Given the description of an element on the screen output the (x, y) to click on. 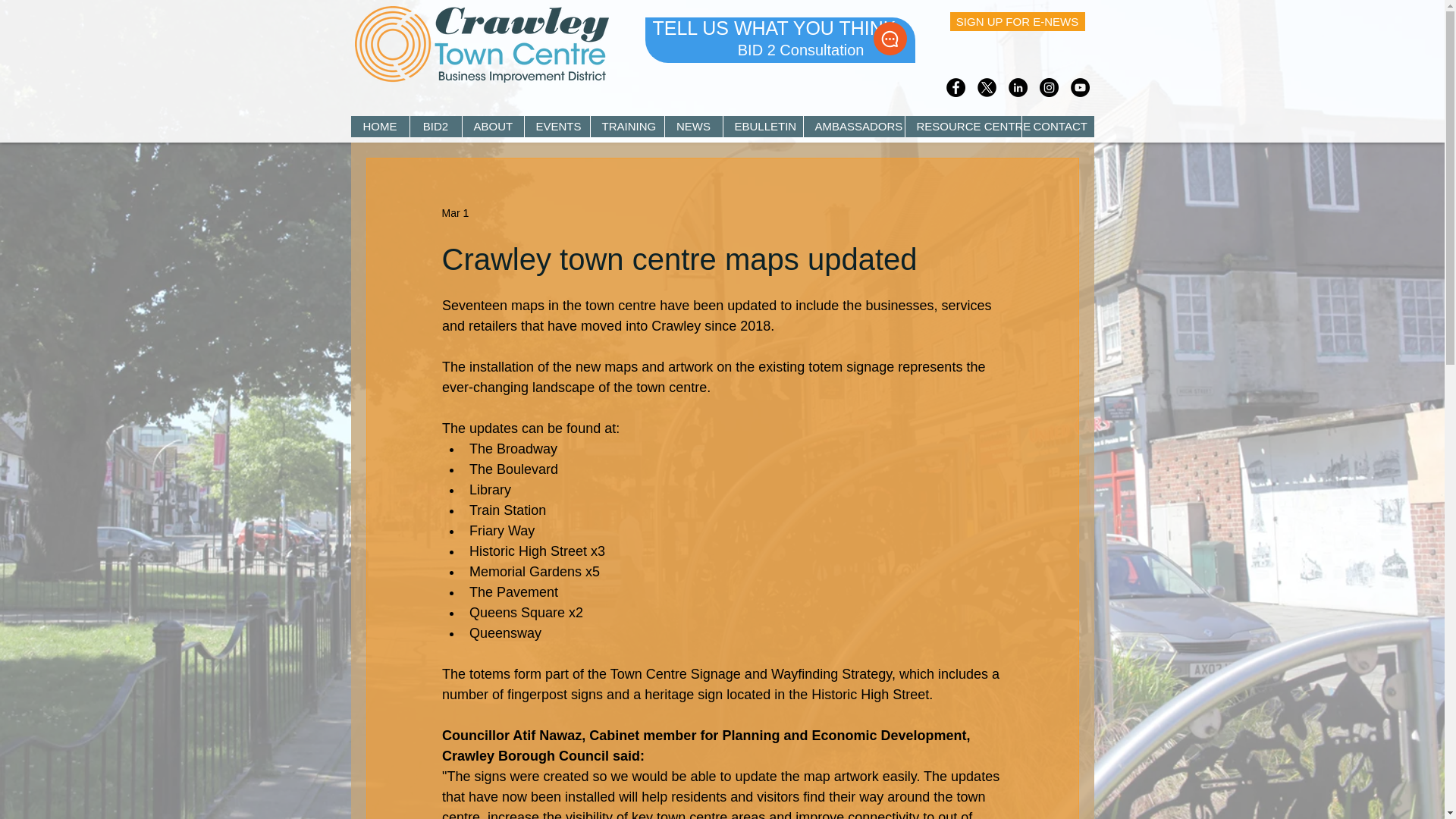
TELL US WHAT YOU THINK (773, 27)
RESOURCE CENTRE (962, 126)
HOME (379, 126)
BID2 (435, 126)
TRAINING (626, 126)
SIGN UP FOR E-NEWS (1016, 21)
ABOUT (491, 126)
EBULLETIN (762, 126)
BID 2 Consultation (801, 49)
CONTACT (1056, 126)
